Given the description of an element on the screen output the (x, y) to click on. 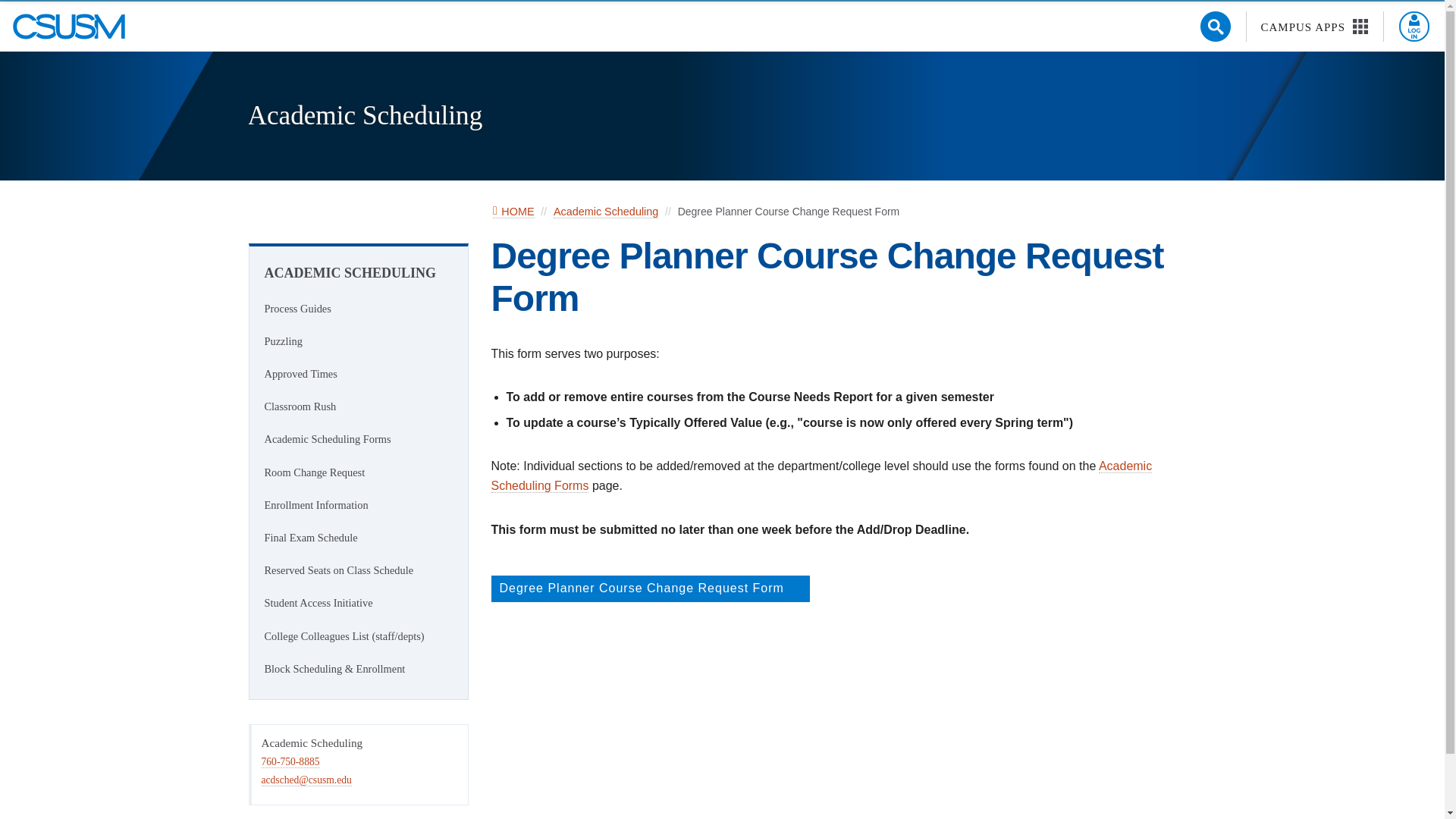
External website (795, 587)
CAMPUS APPS (1314, 27)
External website (651, 588)
